Given the description of an element on the screen output the (x, y) to click on. 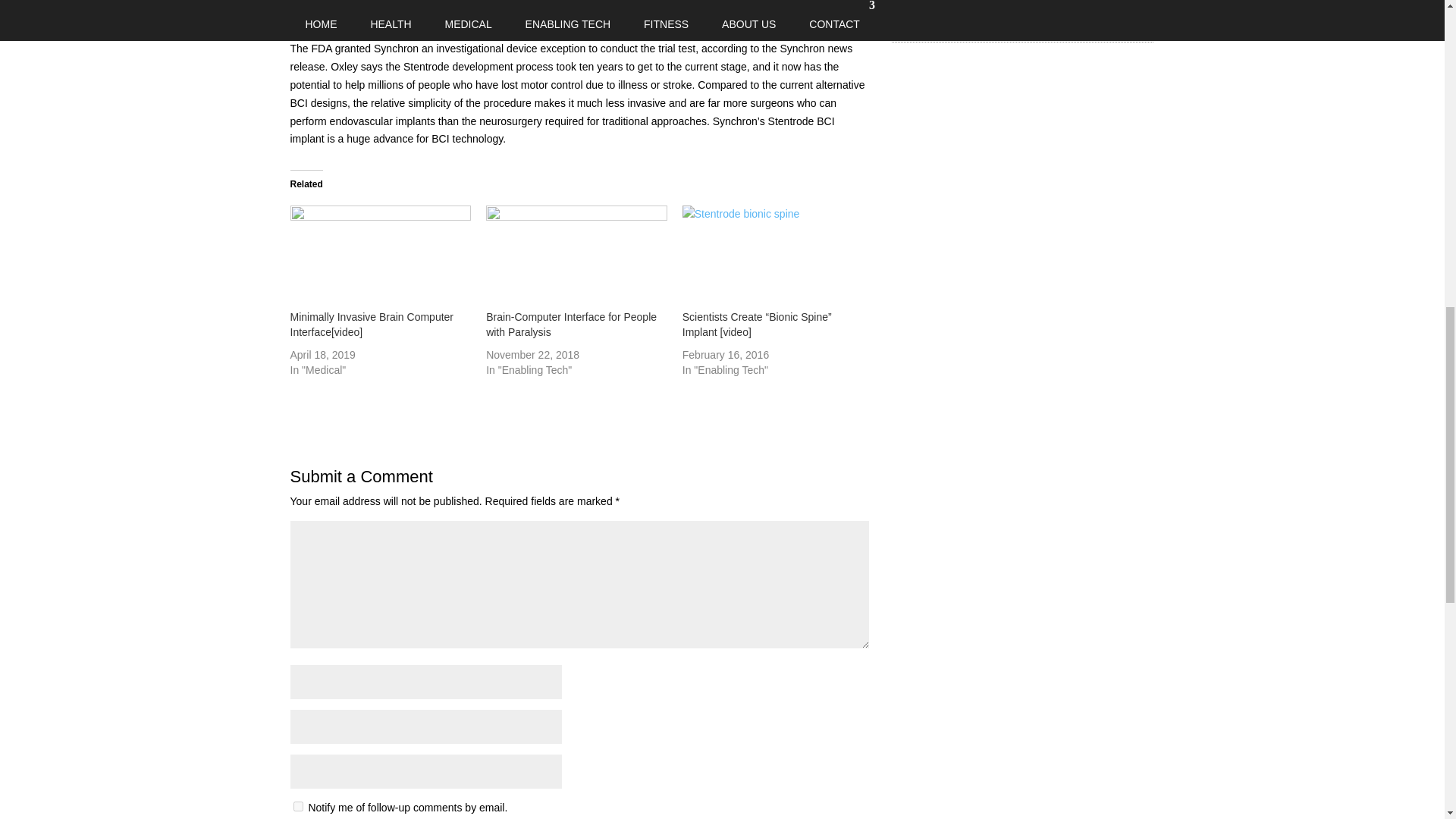
Brain-Computer Interface for People with Paralysis (576, 256)
Brain-Computer Interface for People with Paralysis (571, 324)
subscribe (297, 806)
Brain-Computer Interface for People with Paralysis (571, 324)
